Given the description of an element on the screen output the (x, y) to click on. 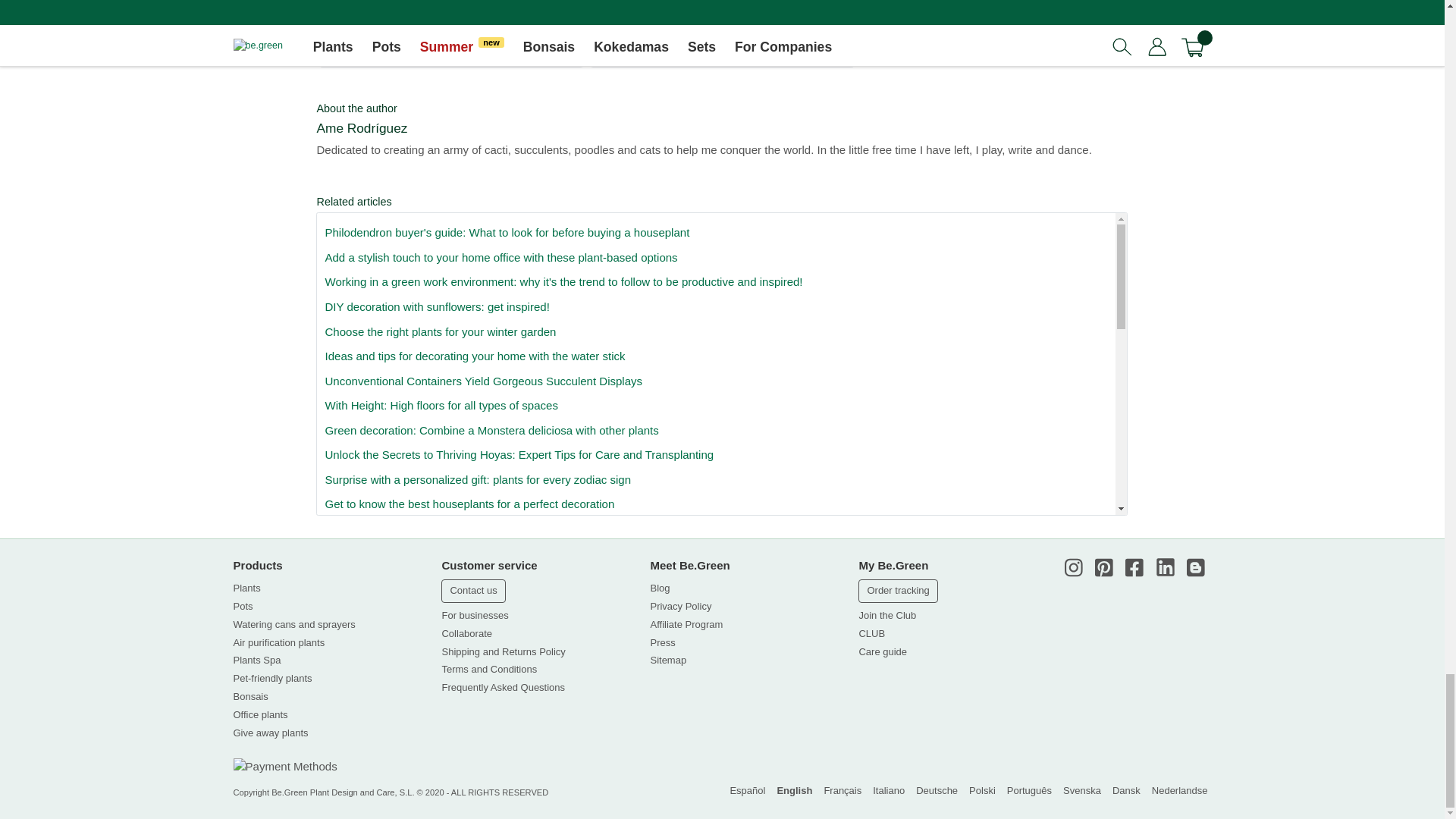
Blog (1195, 567)
Air purification plants (278, 642)
Linkedin (1165, 566)
Watering cans and sprayers (293, 624)
Pinterest (1103, 567)
Facebook (1133, 567)
Pots (242, 606)
Plants (246, 588)
Instagram (1073, 567)
